Given the description of an element on the screen output the (x, y) to click on. 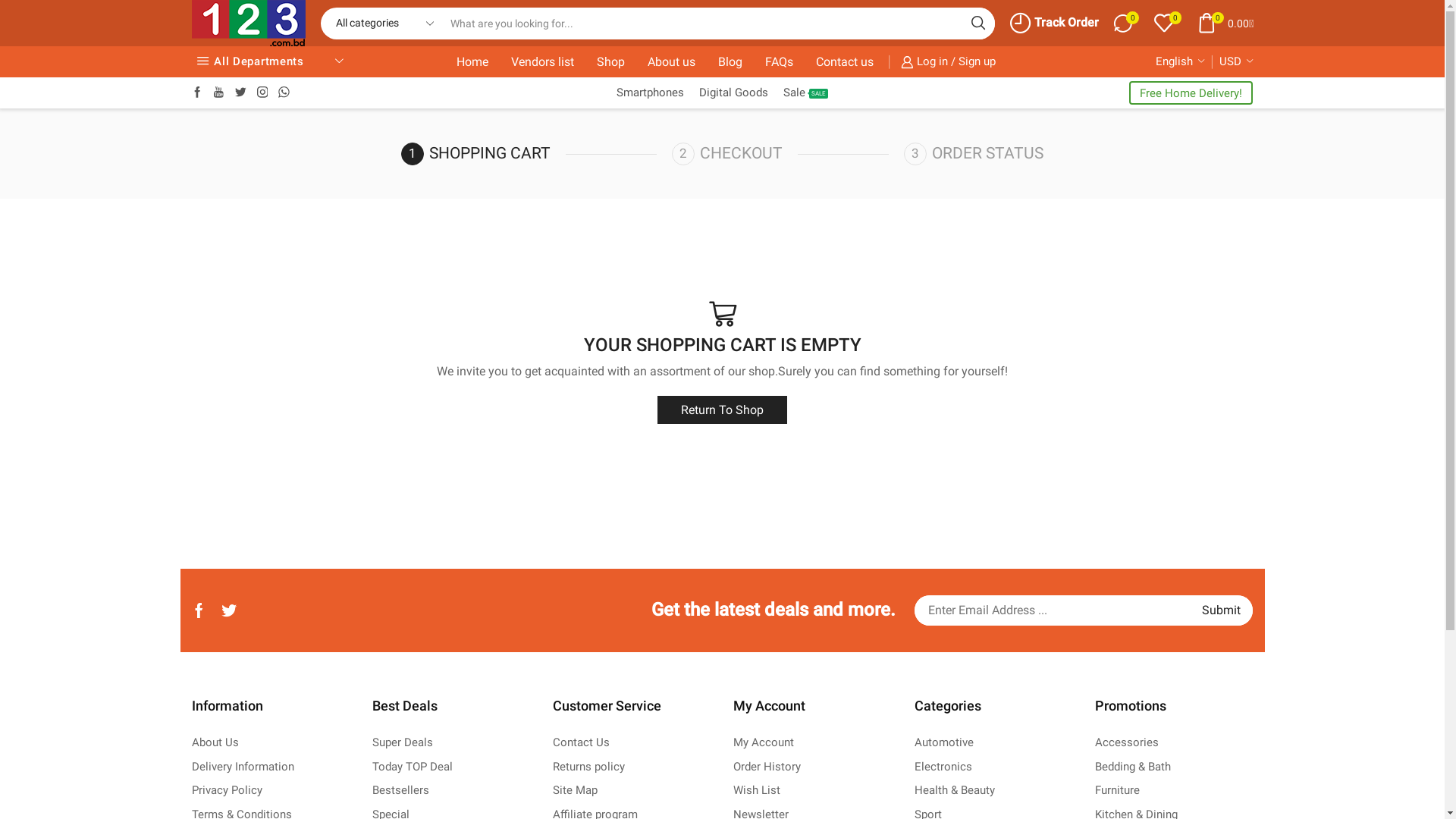
English Element type: text (1179, 61)
Order History Element type: text (766, 766)
ORDER STATUS Element type: text (973, 153)
Log in / Sign up Element type: text (946, 61)
Wish List Element type: text (756, 790)
Twitter Element type: hover (240, 92)
Automotive Element type: text (943, 742)
Returns policy Element type: text (588, 766)
Delivery Information Element type: text (242, 766)
Twitter Element type: text (228, 610)
About us Element type: text (671, 61)
Bedding & Bath Element type: text (1132, 766)
Instagram Element type: hover (262, 92)
CHECKOUT Element type: text (787, 153)
SaleSALE Element type: text (805, 92)
Furniture Element type: text (1117, 790)
Today TOP Deal Element type: text (412, 766)
Privacy Policy Element type: text (226, 790)
Accessories Element type: text (1126, 742)
Best Deals Element type: text (451, 713)
Free Home Delivery! Element type: text (1190, 92)
Site Map Element type: text (574, 790)
Contact Us Element type: text (580, 742)
Track Order Element type: text (1054, 22)
Promotions Element type: text (1173, 713)
SHOPPING CART Element type: text (536, 153)
Digital Goods Element type: text (733, 92)
Whatssap Element type: hover (283, 92)
My Account Element type: text (763, 742)
Submit Element type: text (1221, 610)
Health & Beauty Element type: text (954, 790)
Electronics Element type: text (943, 766)
FAQs Element type: text (778, 61)
Customer Service Element type: text (631, 713)
Information Element type: text (269, 713)
Youtube Element type: hover (218, 92)
Shop Element type: text (610, 61)
About Us Element type: text (214, 742)
Smartphones Element type: text (649, 92)
Return To Shop Element type: text (722, 409)
0 Element type: text (1126, 23)
Vendors list Element type: text (542, 61)
Categories Element type: text (993, 713)
Facebook Element type: hover (196, 92)
Home Element type: text (471, 61)
Facebook Element type: text (198, 610)
Bestsellers Element type: text (400, 790)
Contact us Element type: text (844, 61)
0 Element type: text (1167, 22)
My Account Element type: text (812, 713)
Super Deals Element type: text (402, 742)
USD Element type: text (1235, 61)
Blog Element type: text (729, 61)
